Given the description of an element on the screen output the (x, y) to click on. 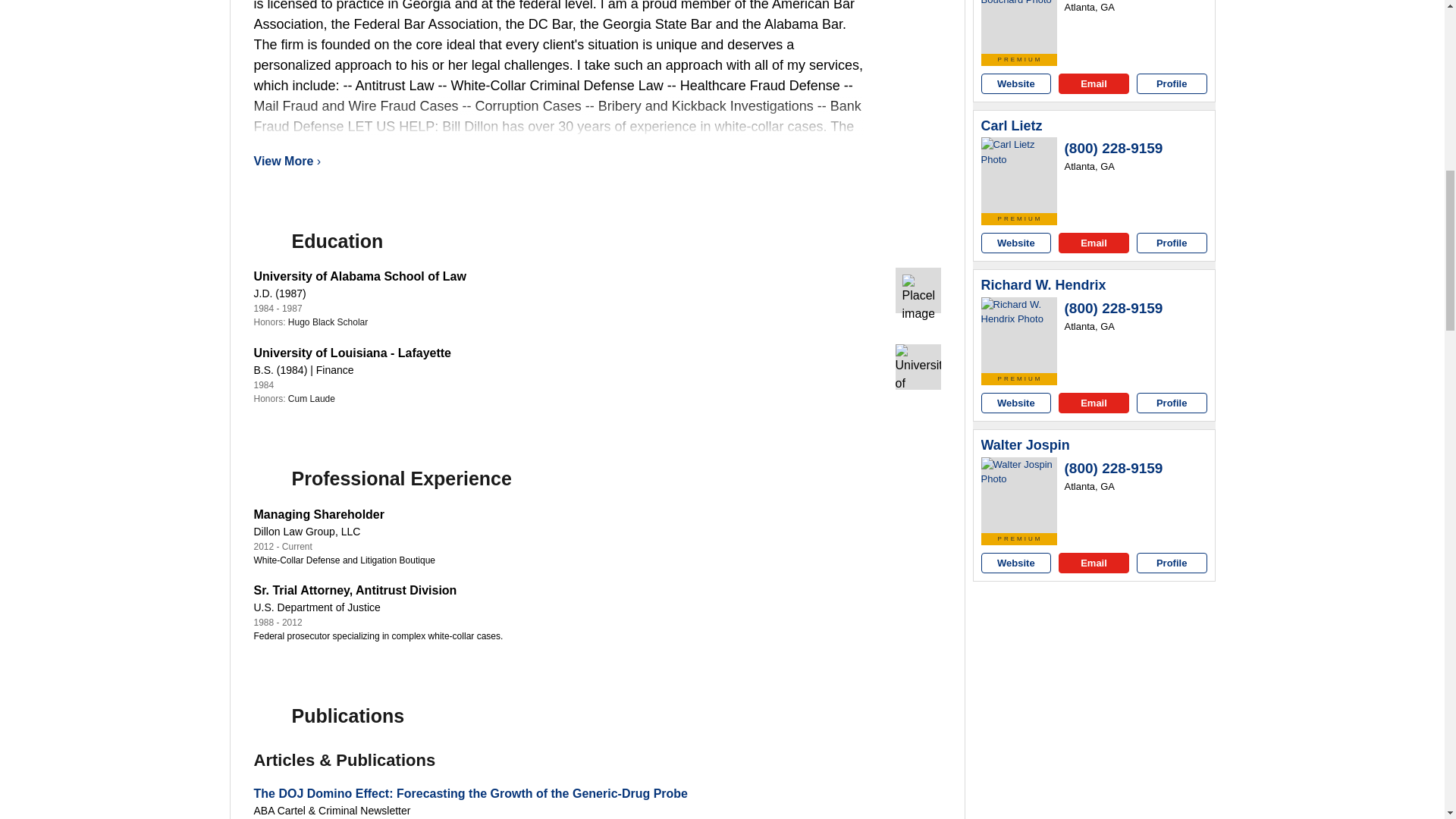
David Bouchard (1019, 27)
Carl Lietz (1011, 126)
Richard W. Hendrix (1043, 285)
Carl Lietz (1019, 174)
